Given the description of an element on the screen output the (x, y) to click on. 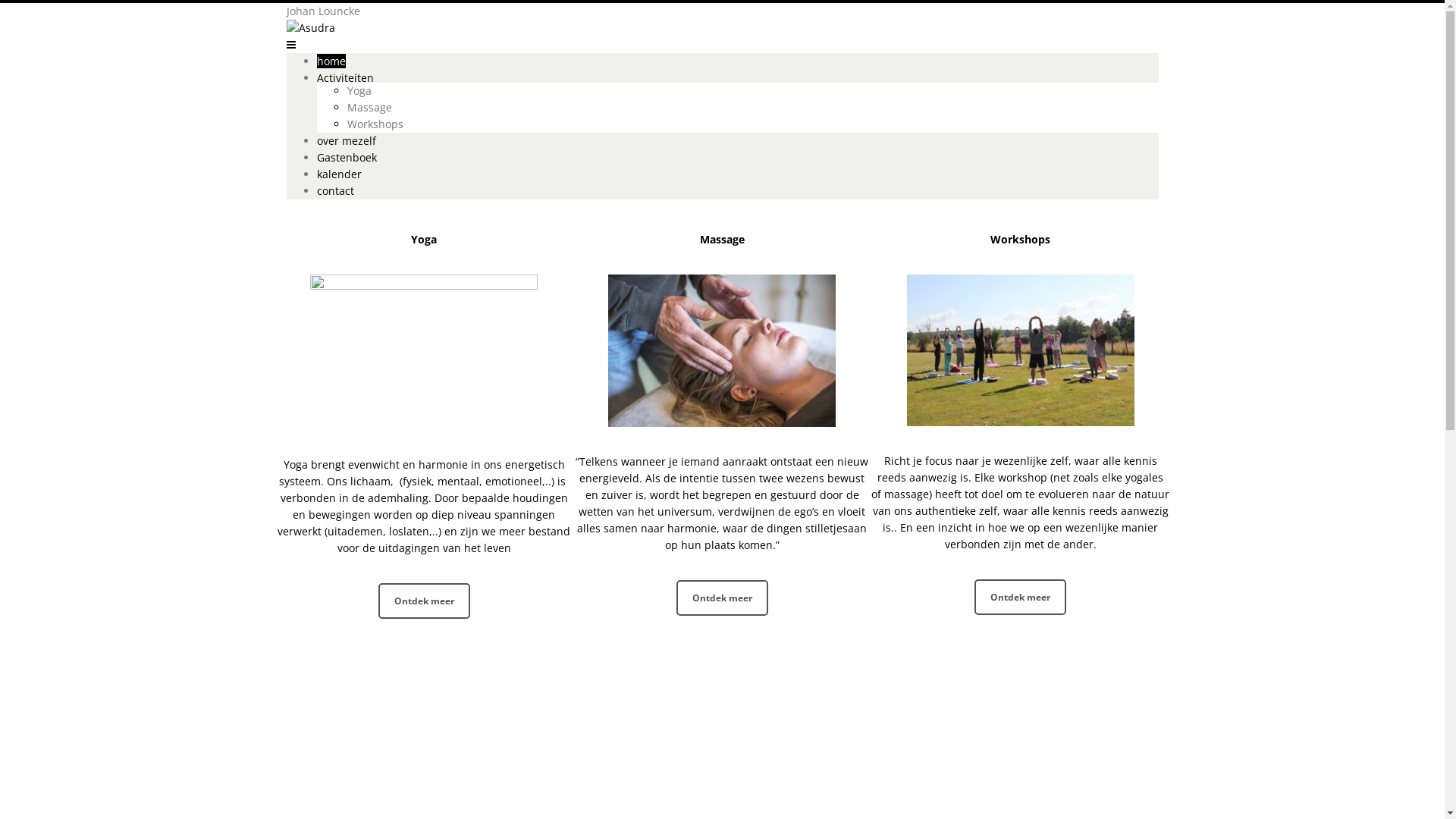
Ontdek meer Element type: text (722, 597)
Activiteiten Element type: text (344, 77)
contact Element type: text (335, 190)
kalender Element type: text (338, 173)
Yoga Element type: text (359, 90)
Ontdek meer Element type: text (424, 600)
Workshops Element type: text (1020, 239)
Massage Element type: text (369, 107)
home Element type: text (330, 60)
Workshops Element type: text (375, 123)
Gastenboek Element type: text (346, 157)
Ontdek meer Element type: text (1020, 597)
over mezelf Element type: text (346, 140)
Massage Element type: text (721, 239)
Asudra - Balancing life Element type: hover (381, 27)
Yoga Element type: text (423, 239)
